Given the description of an element on the screen output the (x, y) to click on. 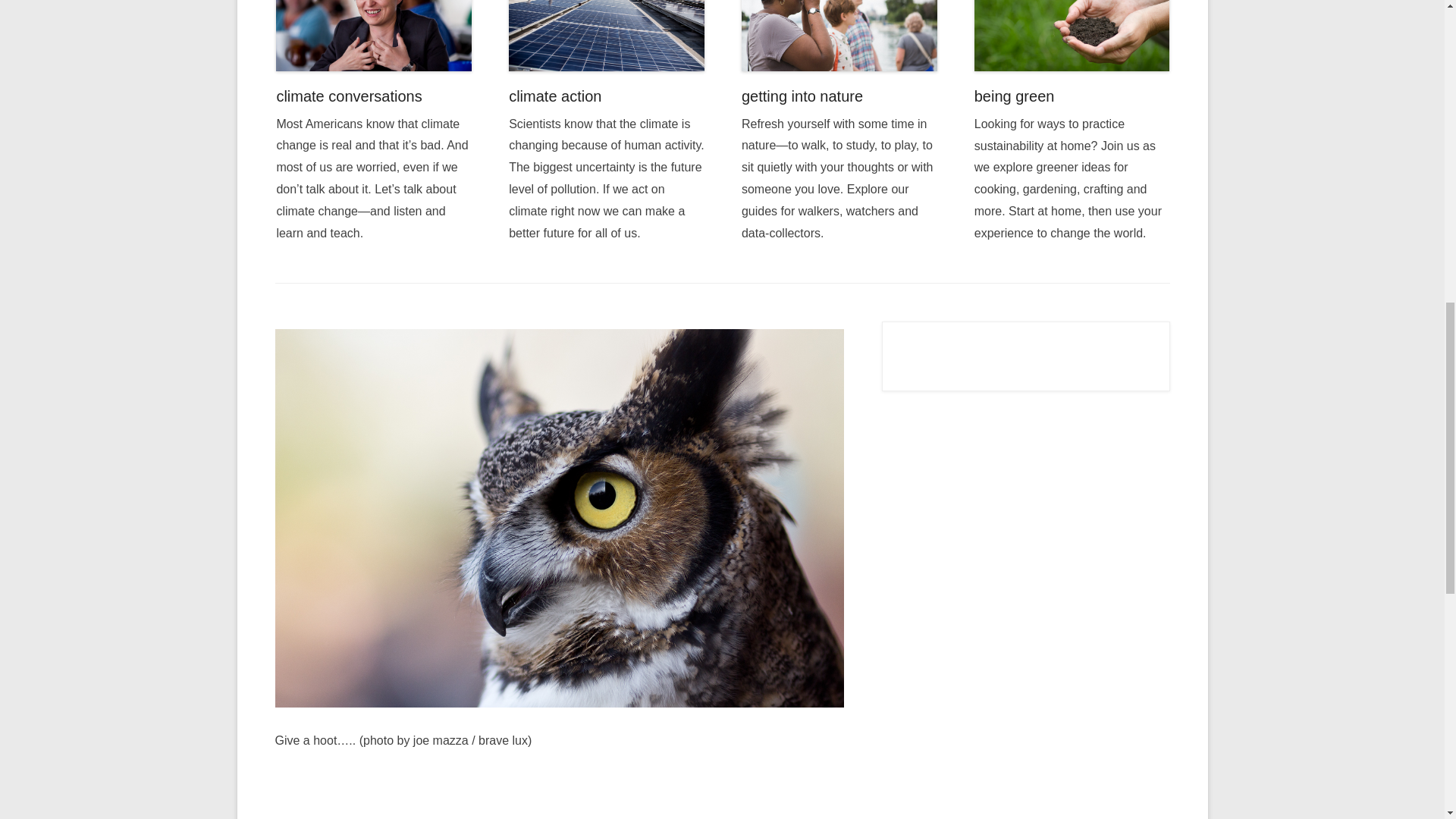
getting into nature (802, 95)
being green (1072, 35)
climate conversations (373, 35)
climate action (554, 95)
getting into nature (839, 35)
climate conversations (349, 95)
being green (1014, 95)
being green (1014, 95)
getting into nature (802, 95)
climate action (554, 95)
climate action (606, 35)
climate conversations (349, 95)
